Given the description of an element on the screen output the (x, y) to click on. 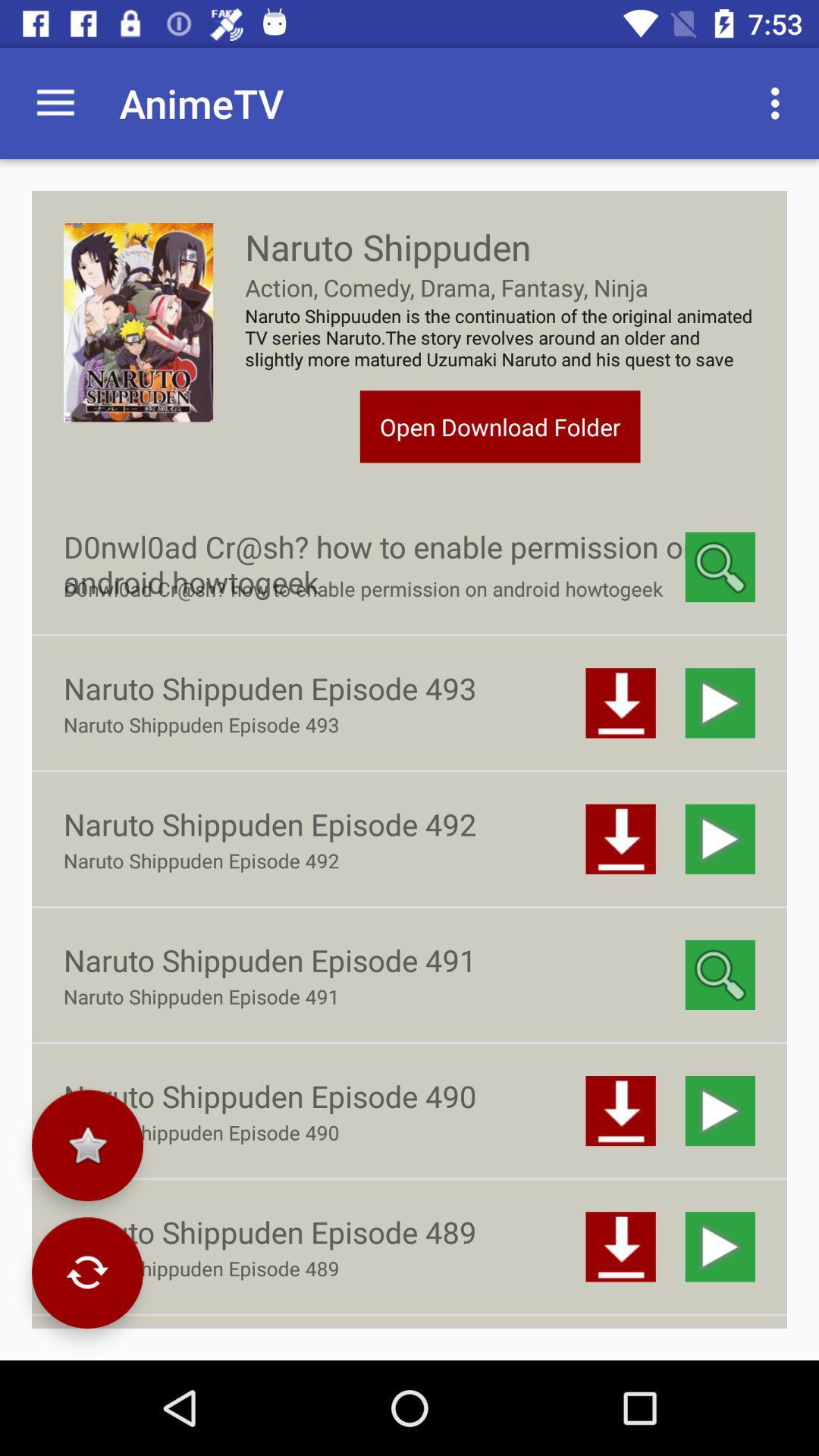
open item below naruto shippuuden is (500, 426)
